Given the description of an element on the screen output the (x, y) to click on. 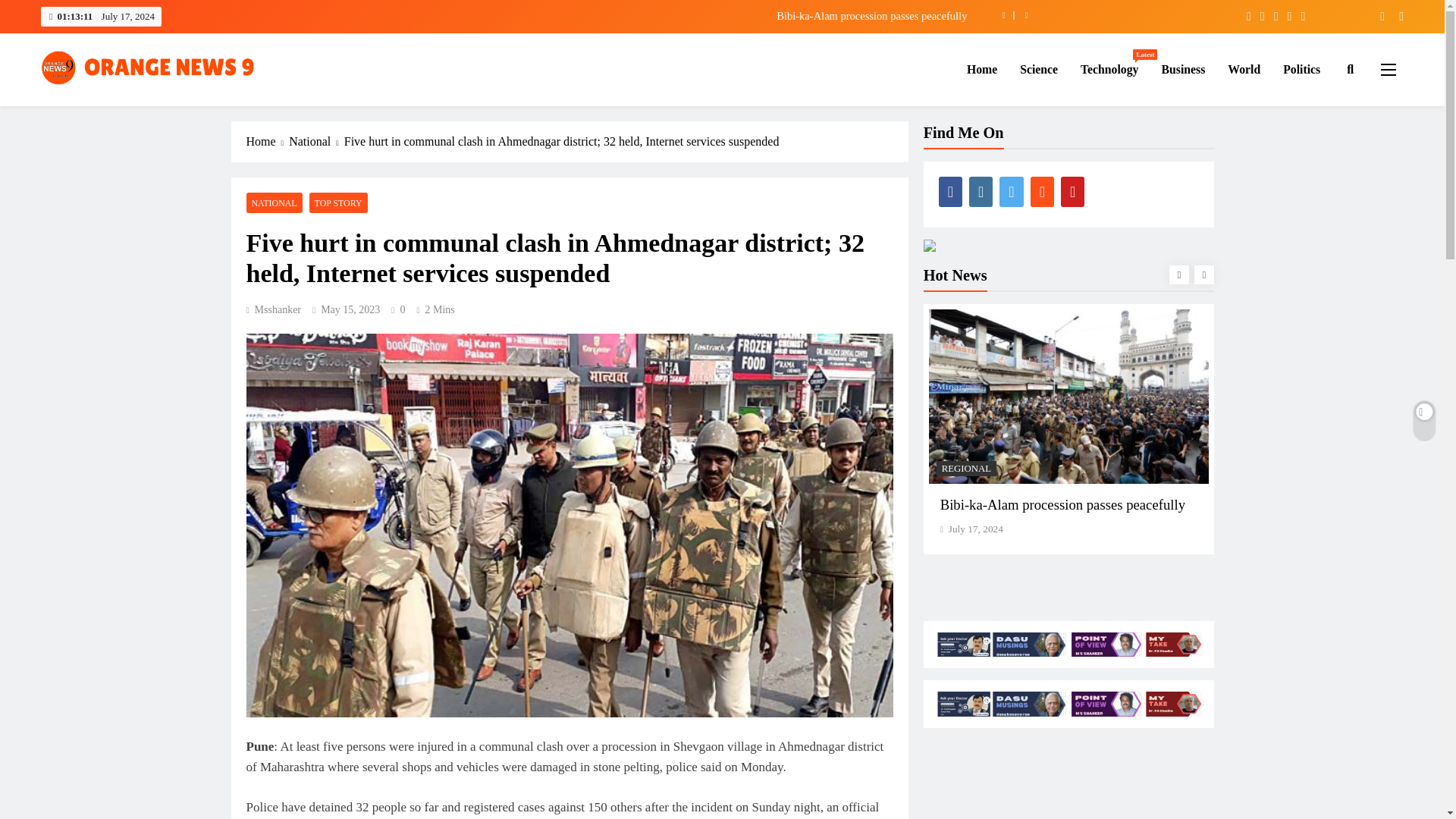
Home (982, 69)
Science (1038, 69)
Business (1182, 69)
OrangeNews9 (111, 107)
Politics (1301, 69)
World (1243, 69)
Bibi-ka-Alam procession passes peacefully (1109, 69)
Bibi-ka-Alam procession passes peacefully (639, 15)
